Given the description of an element on the screen output the (x, y) to click on. 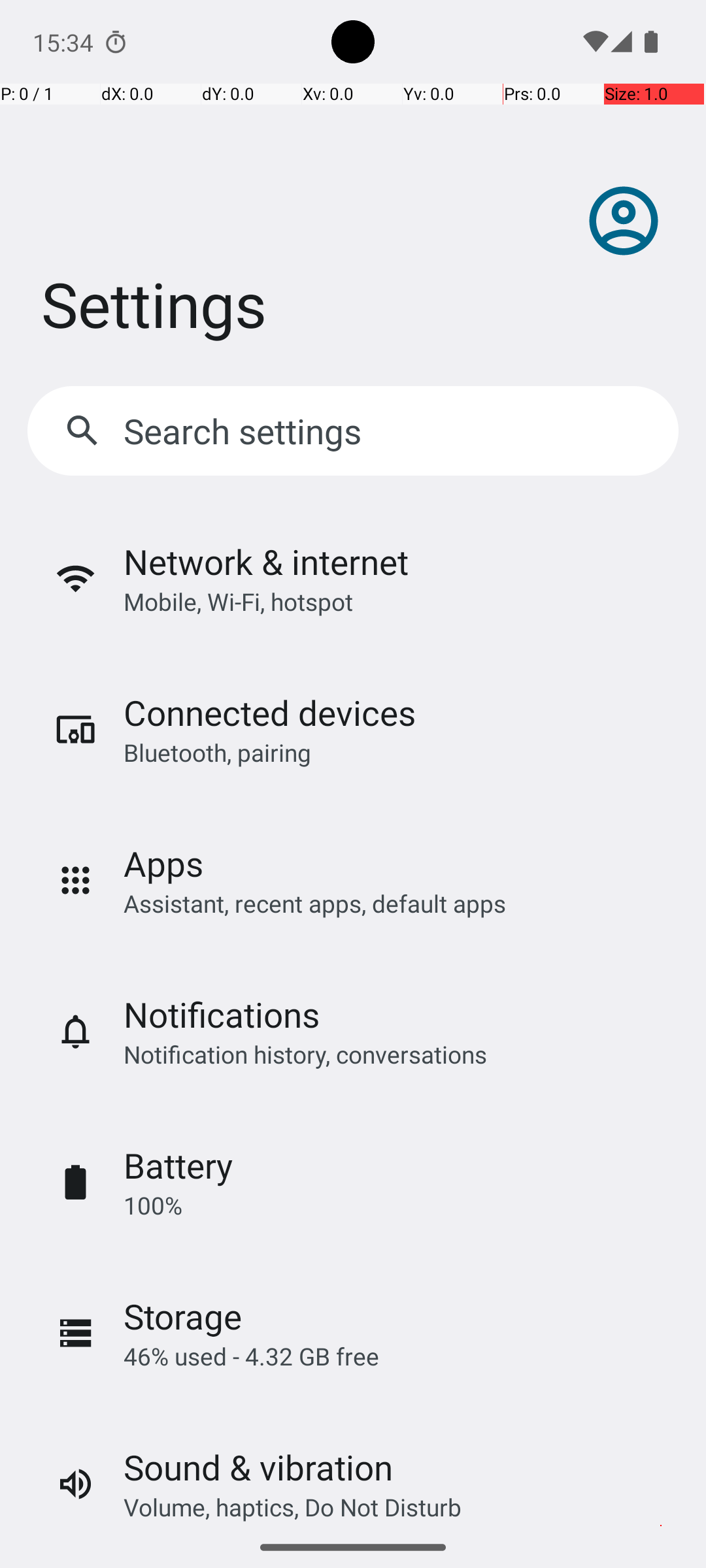
46% used - 4.32 GB free Element type: android.widget.TextView (251, 1355)
